Given the description of an element on the screen output the (x, y) to click on. 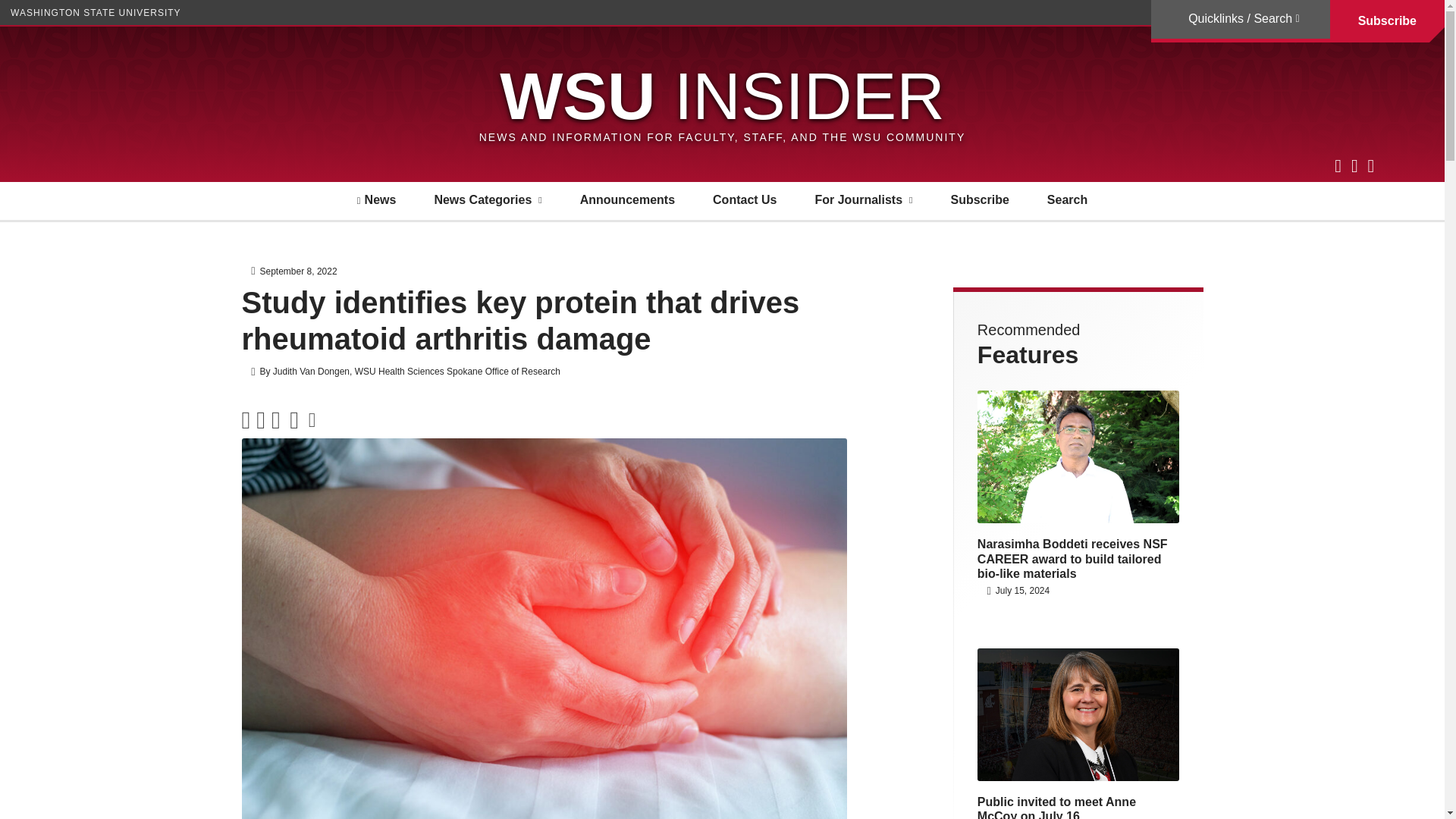
Go to wsu twitter (1337, 165)
share with link (311, 419)
Share on Linkedin (275, 420)
Go to wsu facebook (1354, 165)
Go to wsu linkedin (1370, 165)
WASHINGTON STATE UNIVERSITY (96, 12)
Share on FaceBook (260, 420)
share with email (293, 420)
Share on Twitter (245, 420)
